Given the description of an element on the screen output the (x, y) to click on. 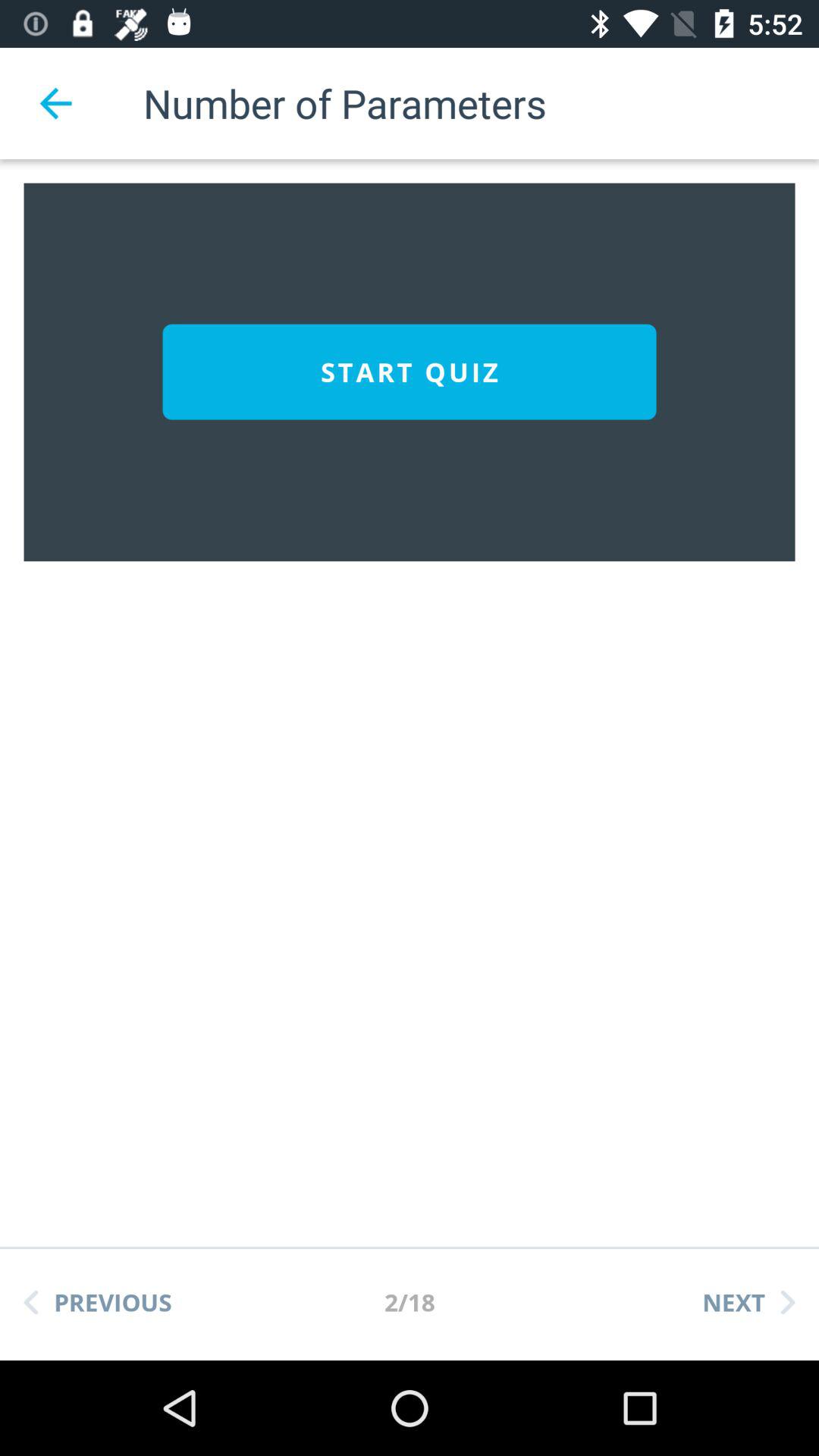
press icon above the previous item (409, 371)
